Given the description of an element on the screen output the (x, y) to click on. 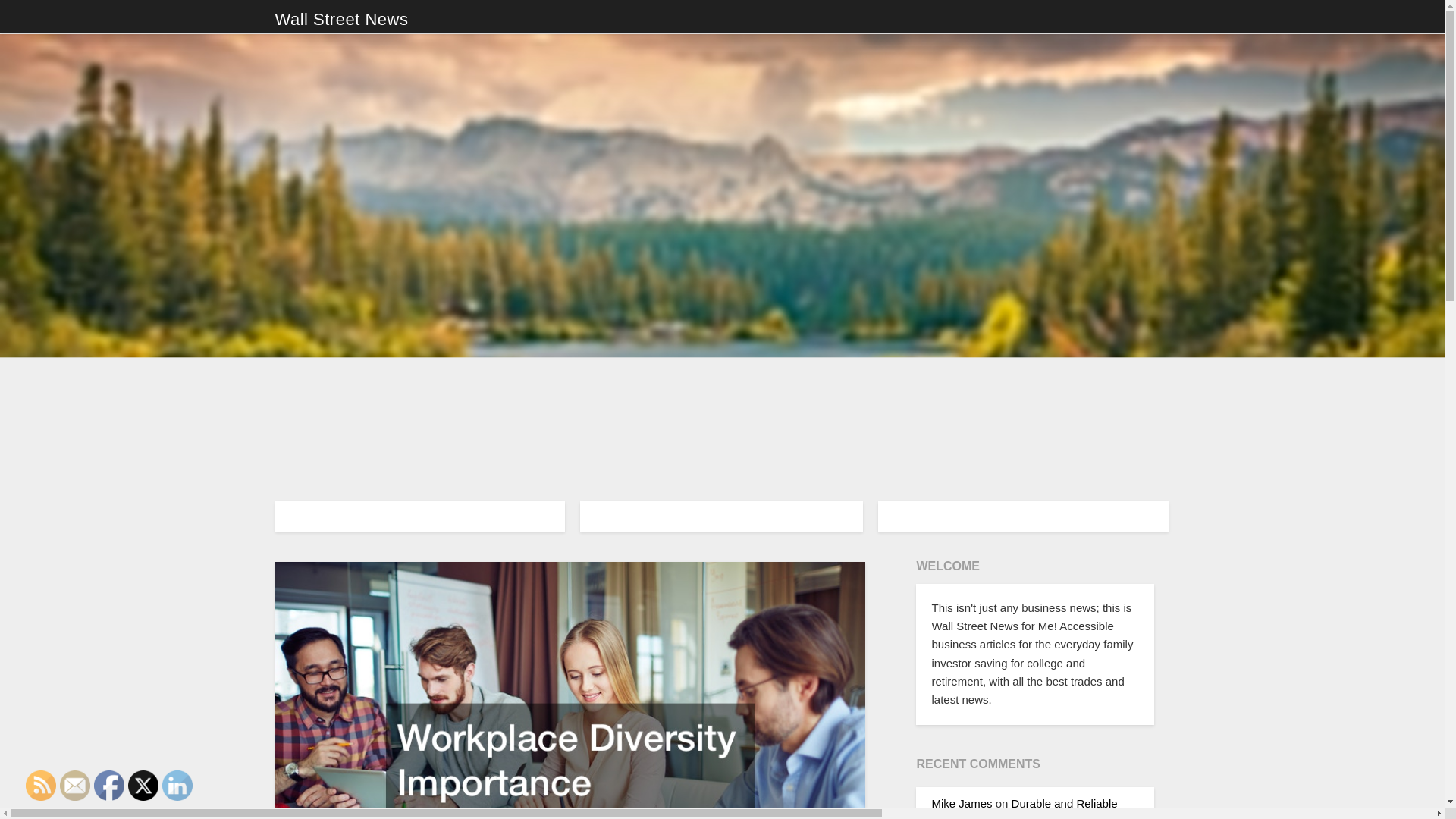
RSS (41, 785)
Durable and Reliable Industrial Finishing Products (1023, 807)
Facebook (108, 785)
Follow by Email (74, 785)
Wall Street News (341, 19)
Twitter (143, 785)
Mike James (961, 802)
